Given the description of an element on the screen output the (x, y) to click on. 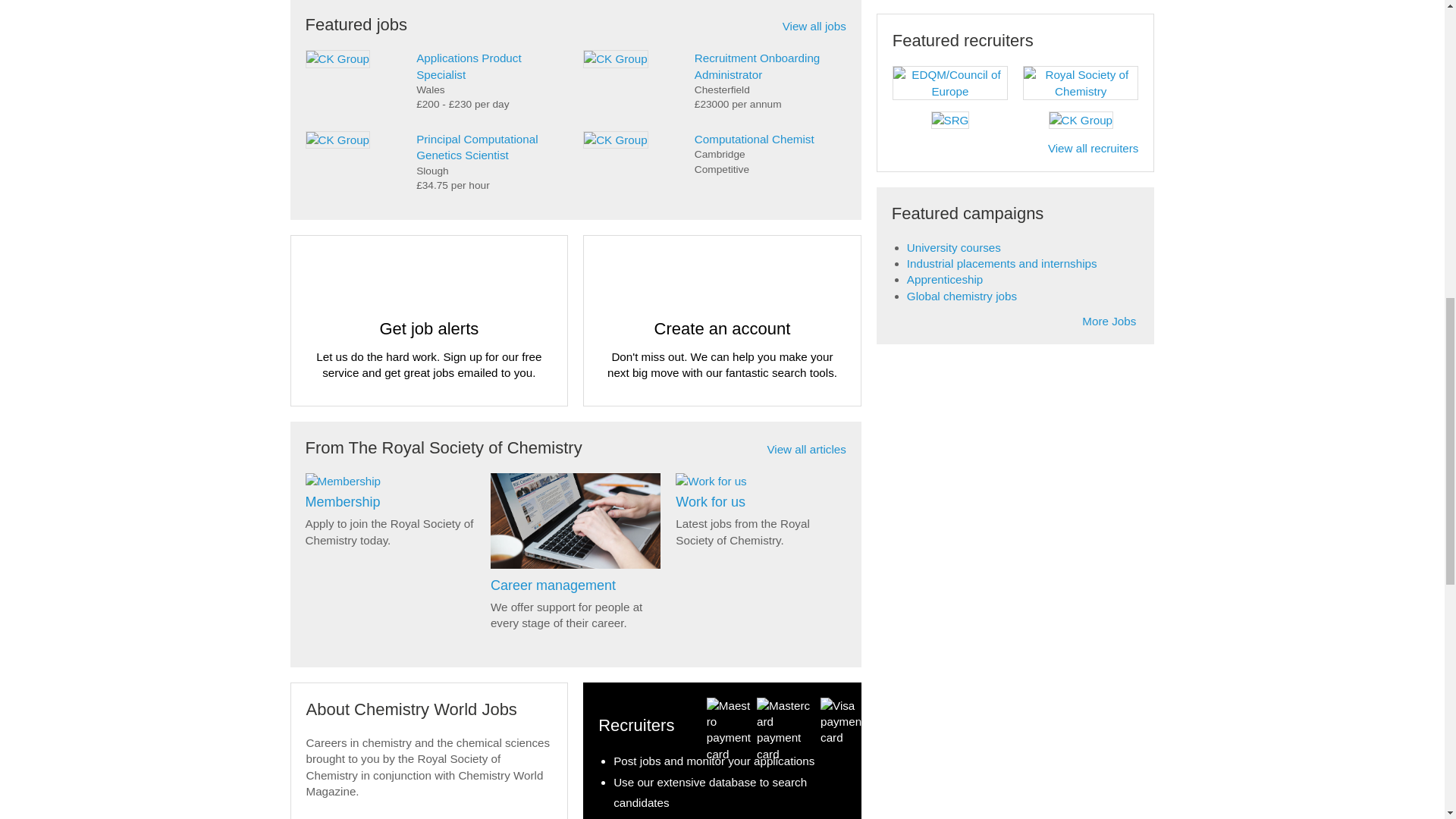
Wales (491, 89)
Cambridge (769, 154)
Slough (491, 170)
Recruitment Onboarding Administrator (756, 65)
Competitive (769, 169)
Principal Computational Genetics Scientist (476, 146)
Chesterfield (769, 89)
Computational Chemist (753, 138)
Applications Product Specialist (468, 65)
